Given the description of an element on the screen output the (x, y) to click on. 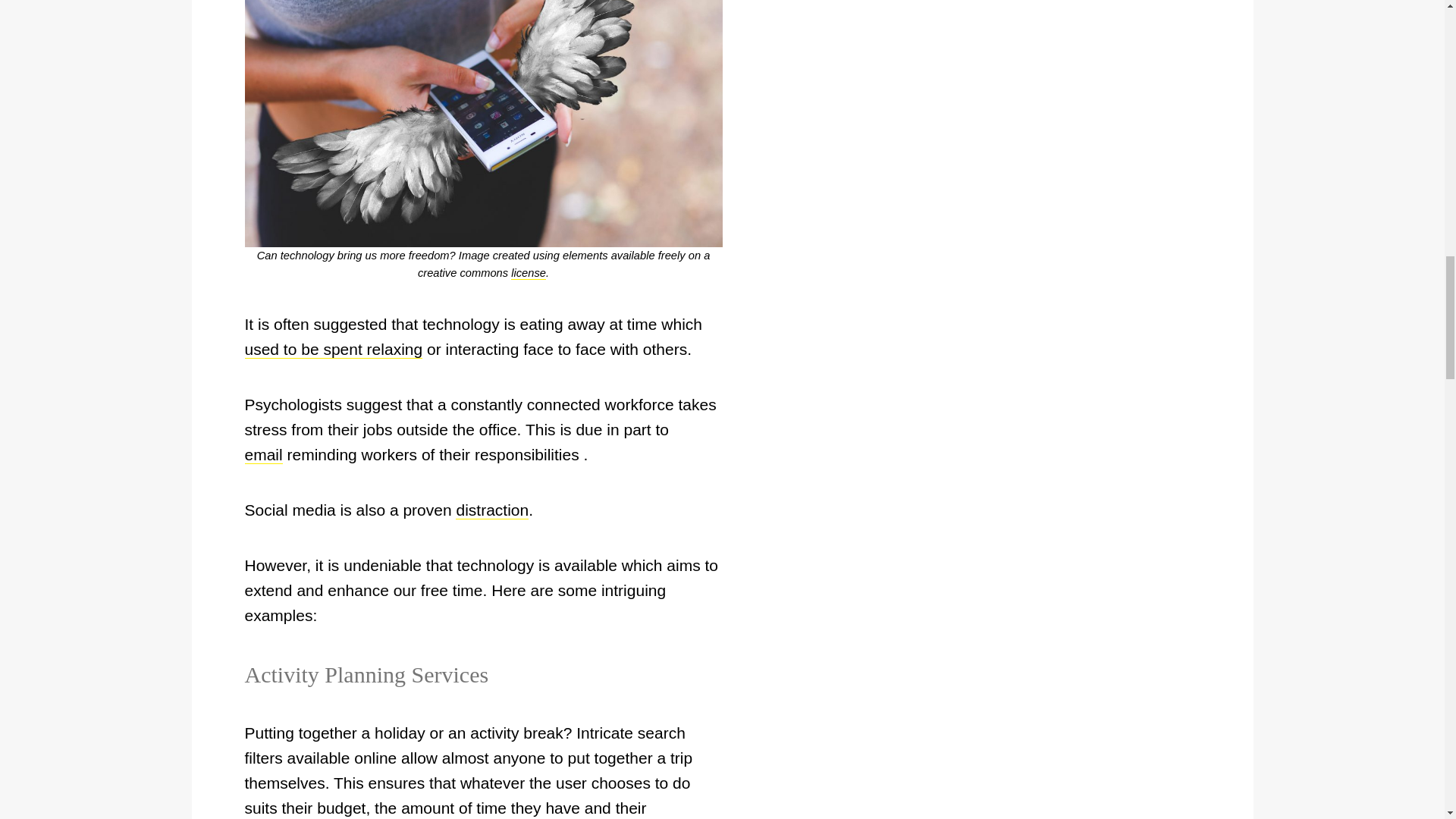
distraction (491, 510)
license (528, 273)
used to be spent relaxing (333, 349)
email (263, 454)
